Given the description of an element on the screen output the (x, y) to click on. 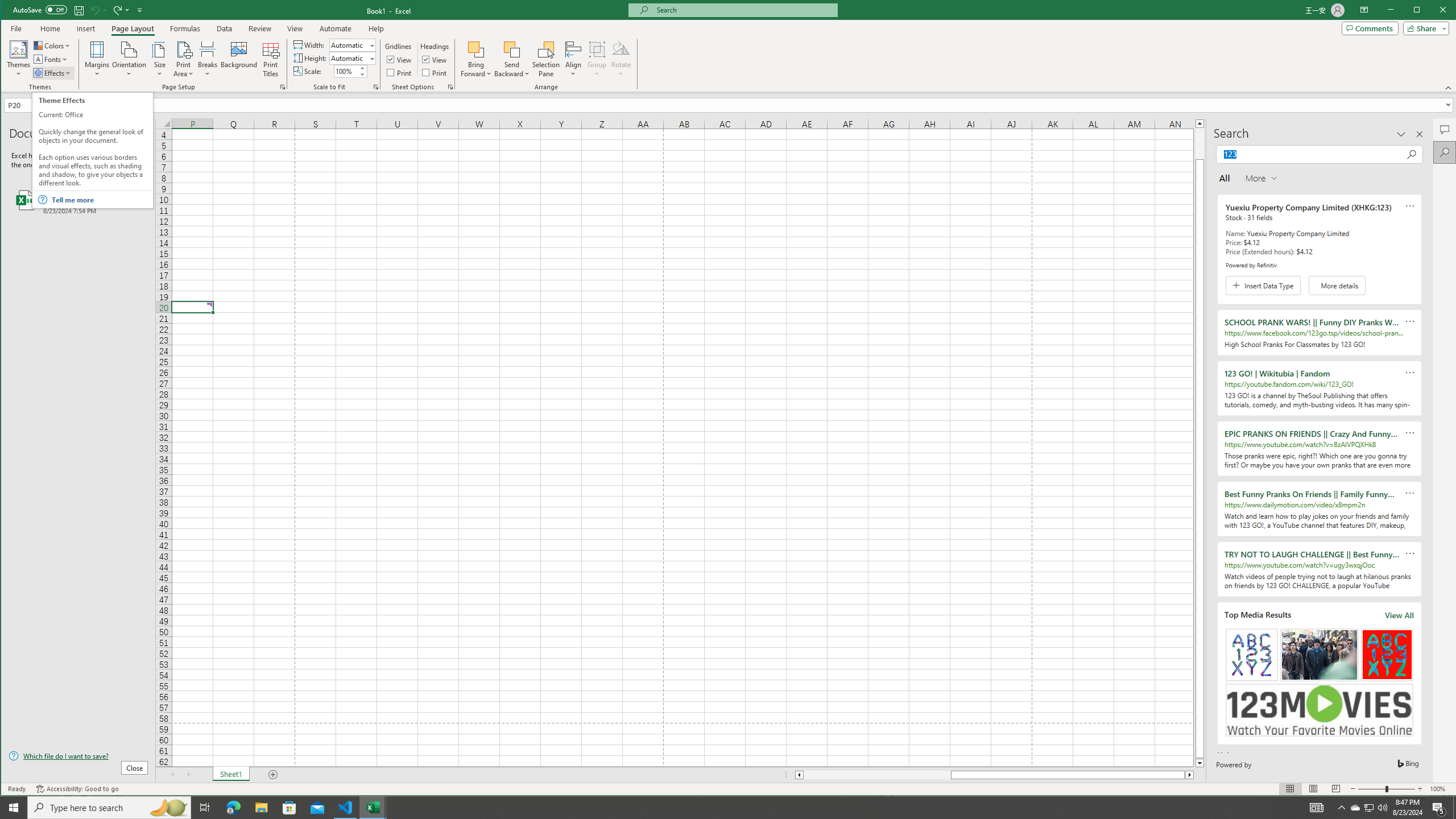
Class: MsoCommandBar (728, 45)
Selection Pane... (546, 59)
File Explorer (261, 807)
Start (13, 807)
Margins (96, 59)
